Given the description of an element on the screen output the (x, y) to click on. 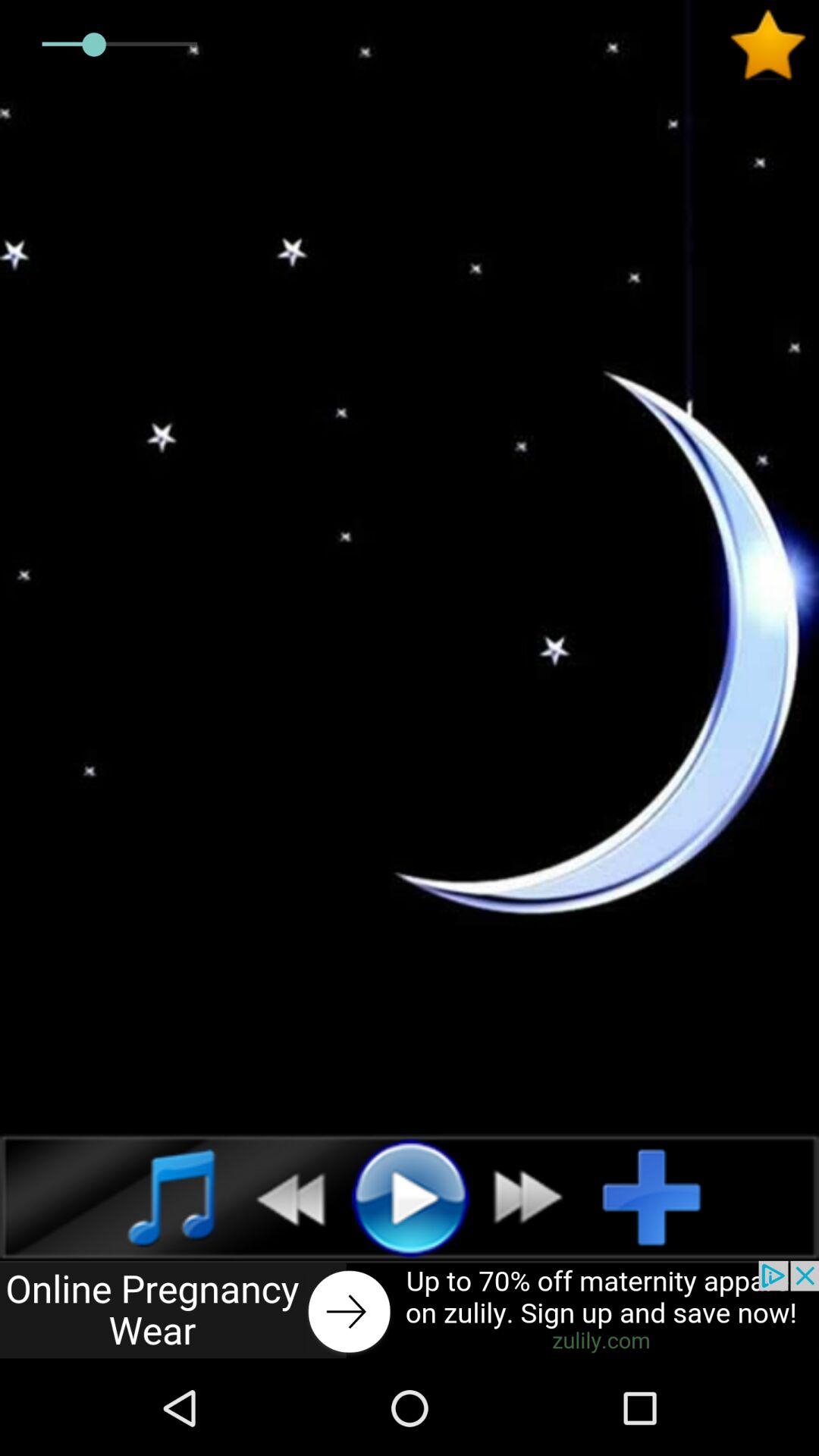
fast forward (536, 1196)
